Given the description of an element on the screen output the (x, y) to click on. 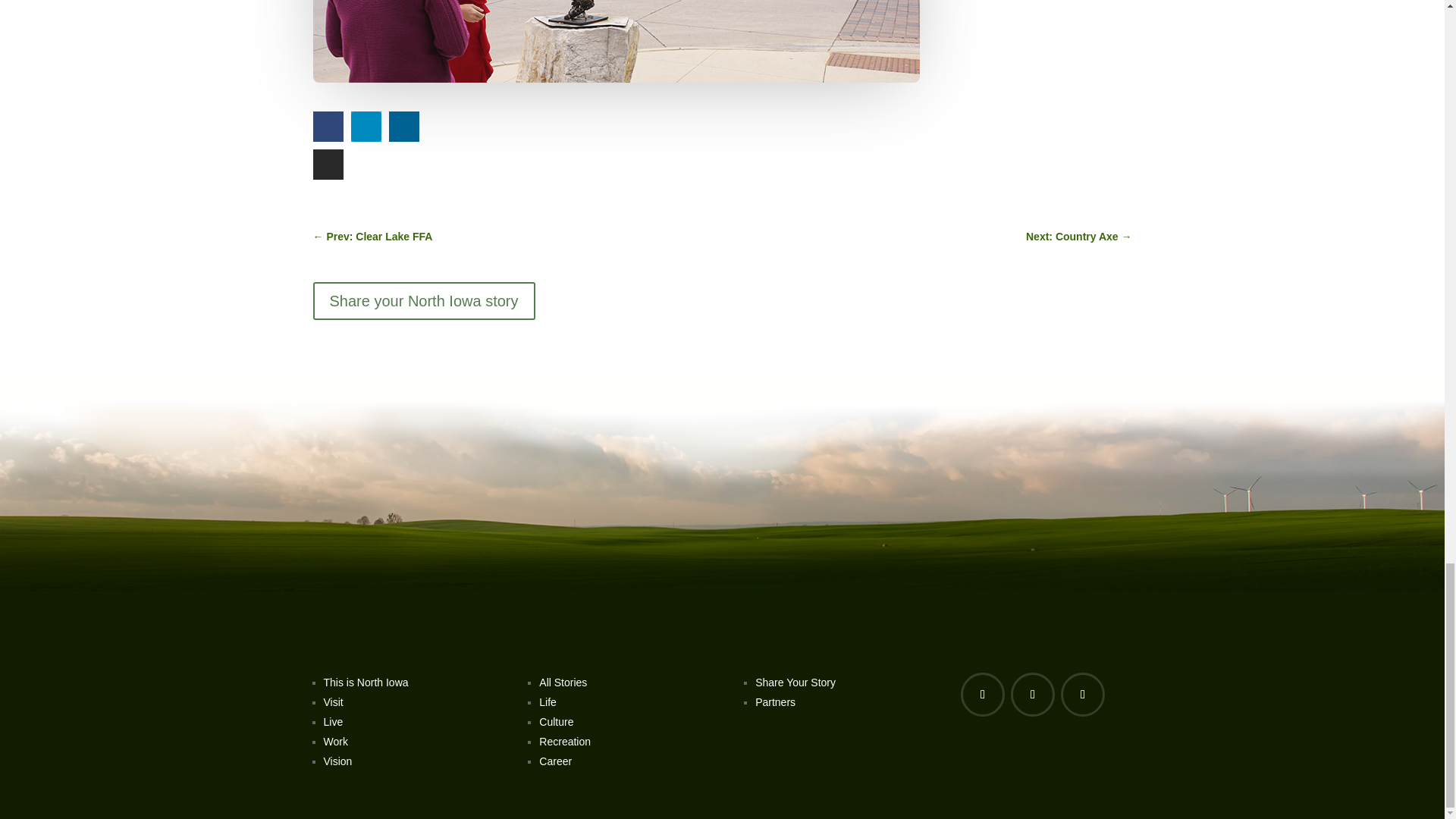
Follow on Instagram (1083, 694)
Follow on Facebook (982, 694)
Share Your Story (795, 682)
Vision (337, 761)
All Stories (562, 682)
Life (547, 702)
Partners (774, 702)
Career (555, 761)
Follow on X (1032, 694)
Culture (555, 721)
This is North Iowa (365, 682)
Recreation (564, 741)
Work (335, 741)
Share your North Iowa story (423, 300)
Live (332, 721)
